Given the description of an element on the screen output the (x, y) to click on. 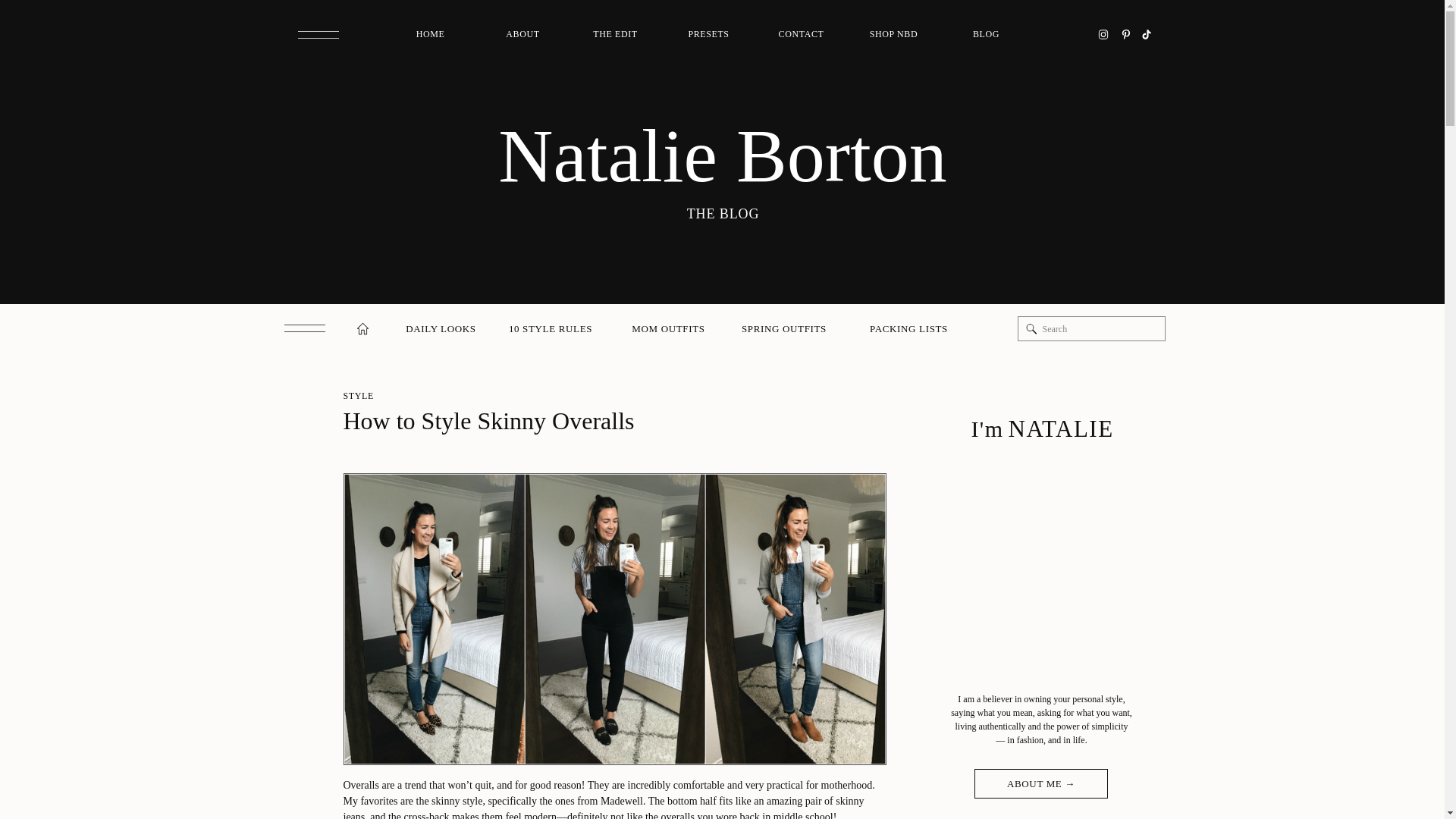
BLOG (985, 35)
SHOP NBD (892, 35)
MOM OUTFITS (667, 328)
CONTACT (800, 35)
Natalie Borton (722, 155)
ABOUT (522, 35)
PRESETS (707, 35)
THE EDIT (615, 35)
HOME (430, 35)
THE BLOG (722, 213)
